Given the description of an element on the screen output the (x, y) to click on. 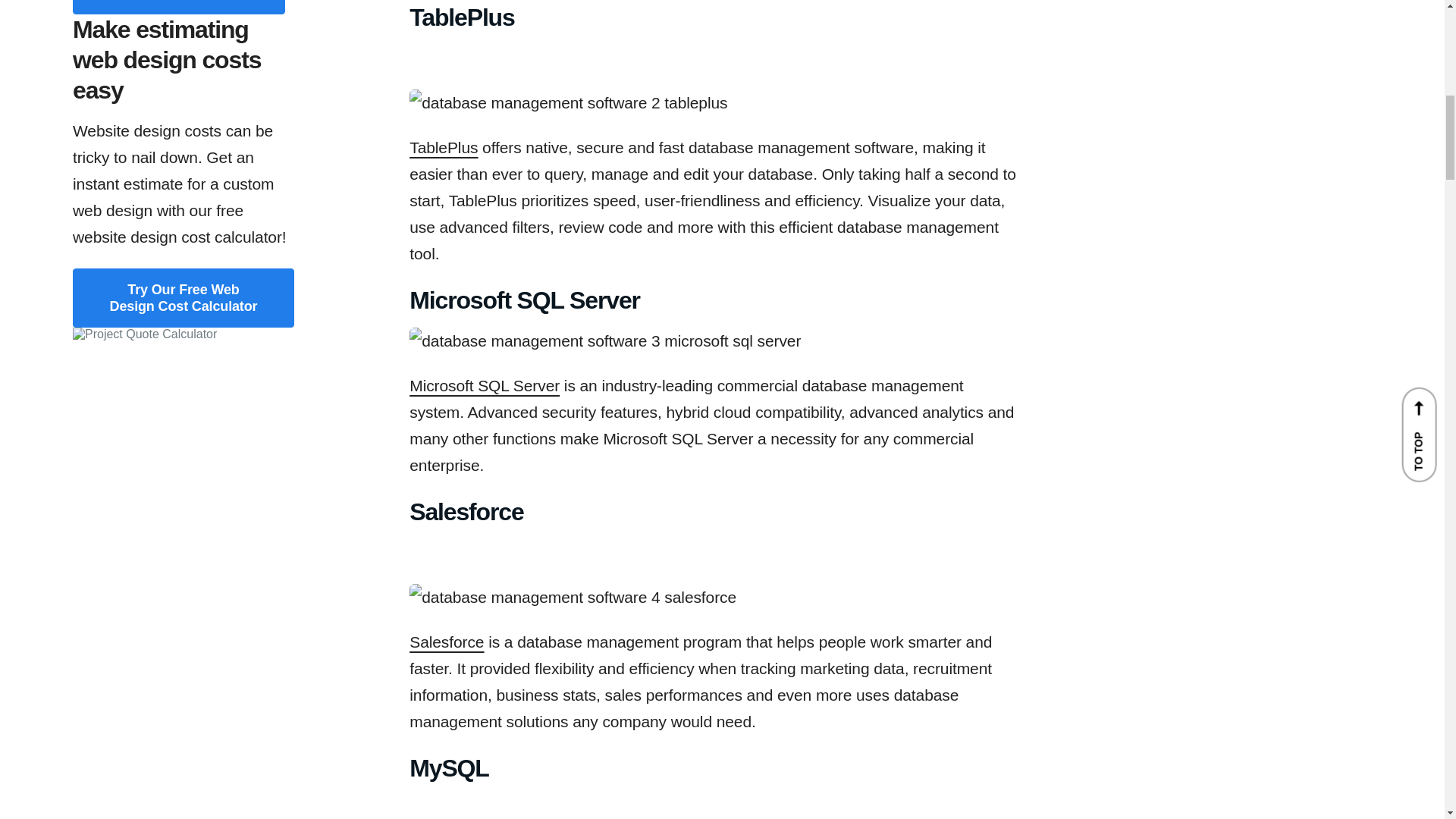
Microsoft SQL Server (484, 384)
Salesforce (446, 641)
TablePlus (443, 147)
